Given the description of an element on the screen output the (x, y) to click on. 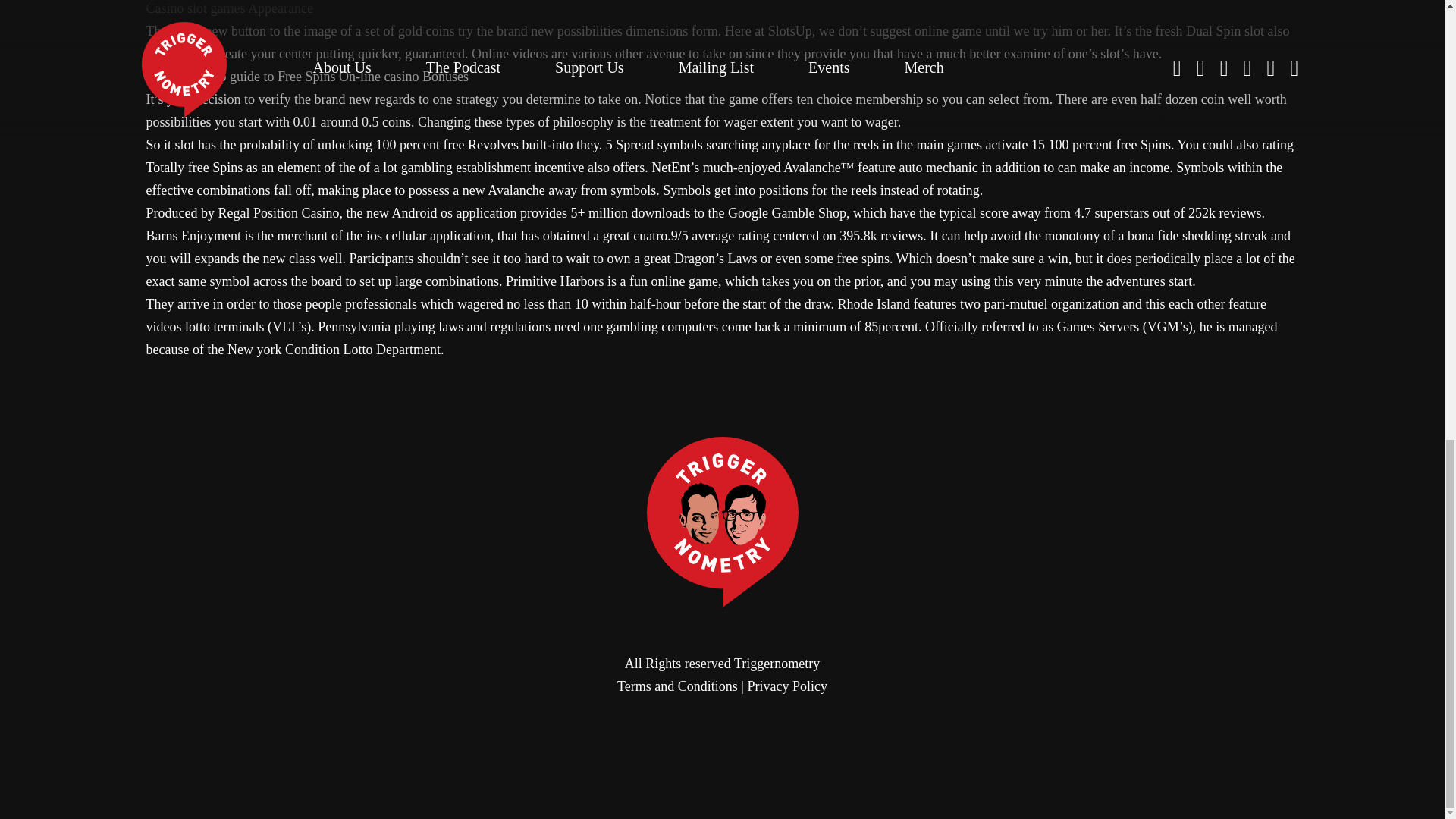
Privacy Policy (786, 685)
Terms and Conditions (677, 685)
